Given the description of an element on the screen output the (x, y) to click on. 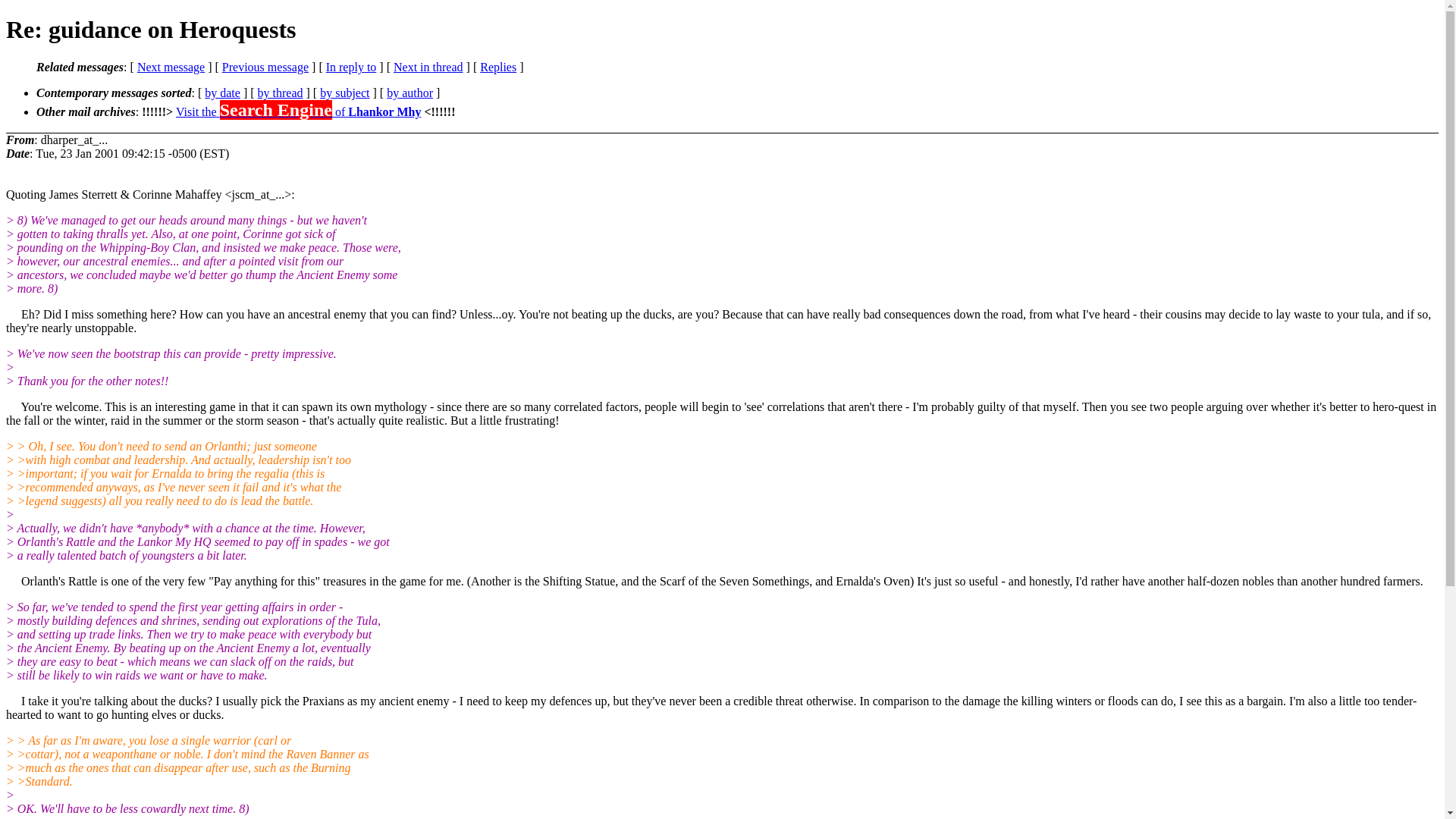
Contemporary discussion threads (279, 92)
by thread (279, 92)
by date (222, 92)
Next in thread (428, 66)
Bryan Thexton: "Re: Re: guidance on Heroquests" (428, 66)
Replies (498, 66)
Next message (170, 66)
Contemporary messages by date (222, 92)
Visit the Search Engine of Lhankor Mhy (298, 111)
by subject (344, 92)
In reply to (351, 66)
by author (409, 92)
Contemporary messages by subject (344, 92)
Previous message (265, 66)
Contemporary messages by author (409, 92)
